Given the description of an element on the screen output the (x, y) to click on. 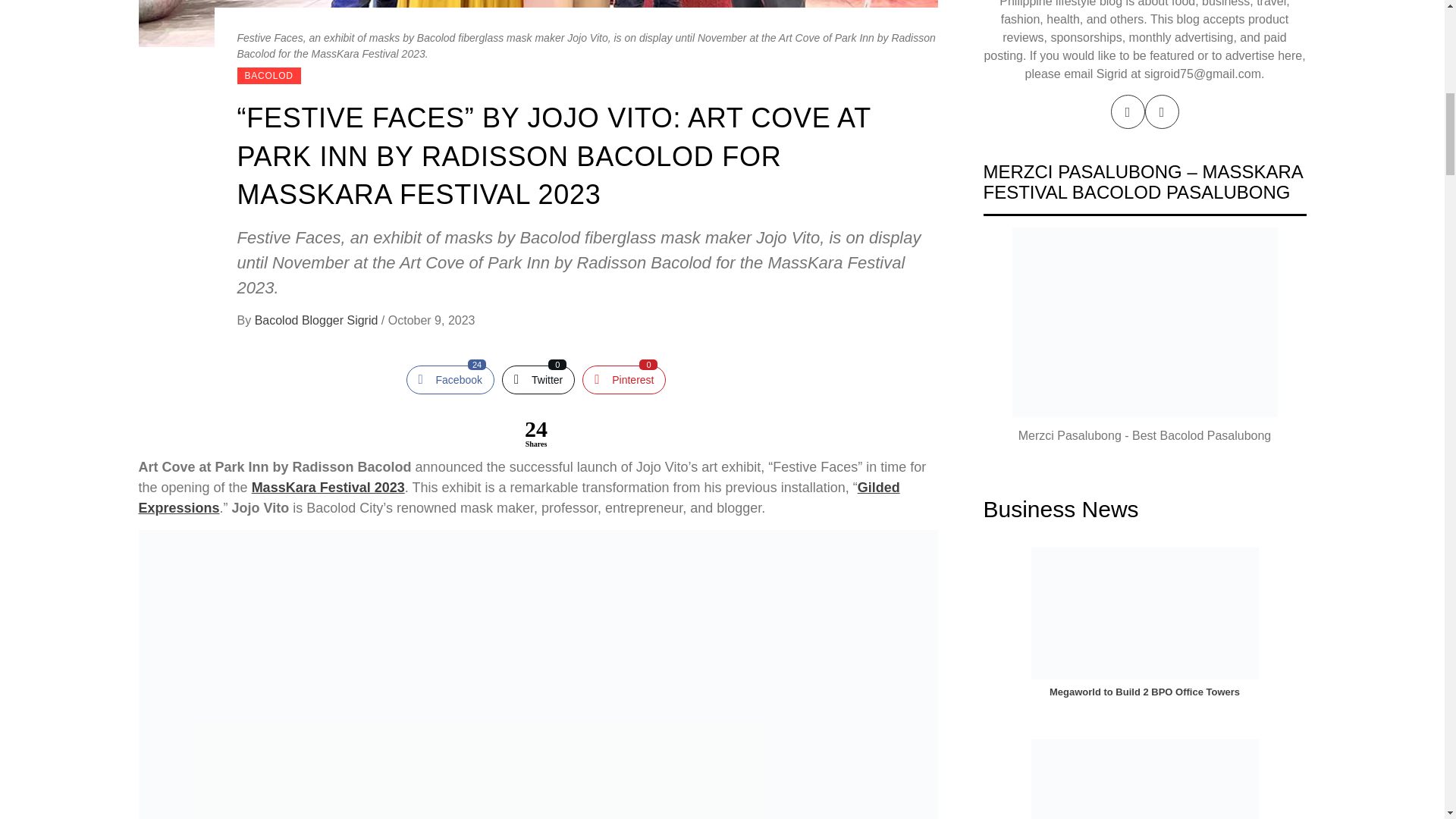
BACOLOD (267, 75)
Gilded Expressions (450, 379)
MassKara Festival 2023 (518, 497)
Bacolod Blogger Sigrid (327, 487)
